Given the description of an element on the screen output the (x, y) to click on. 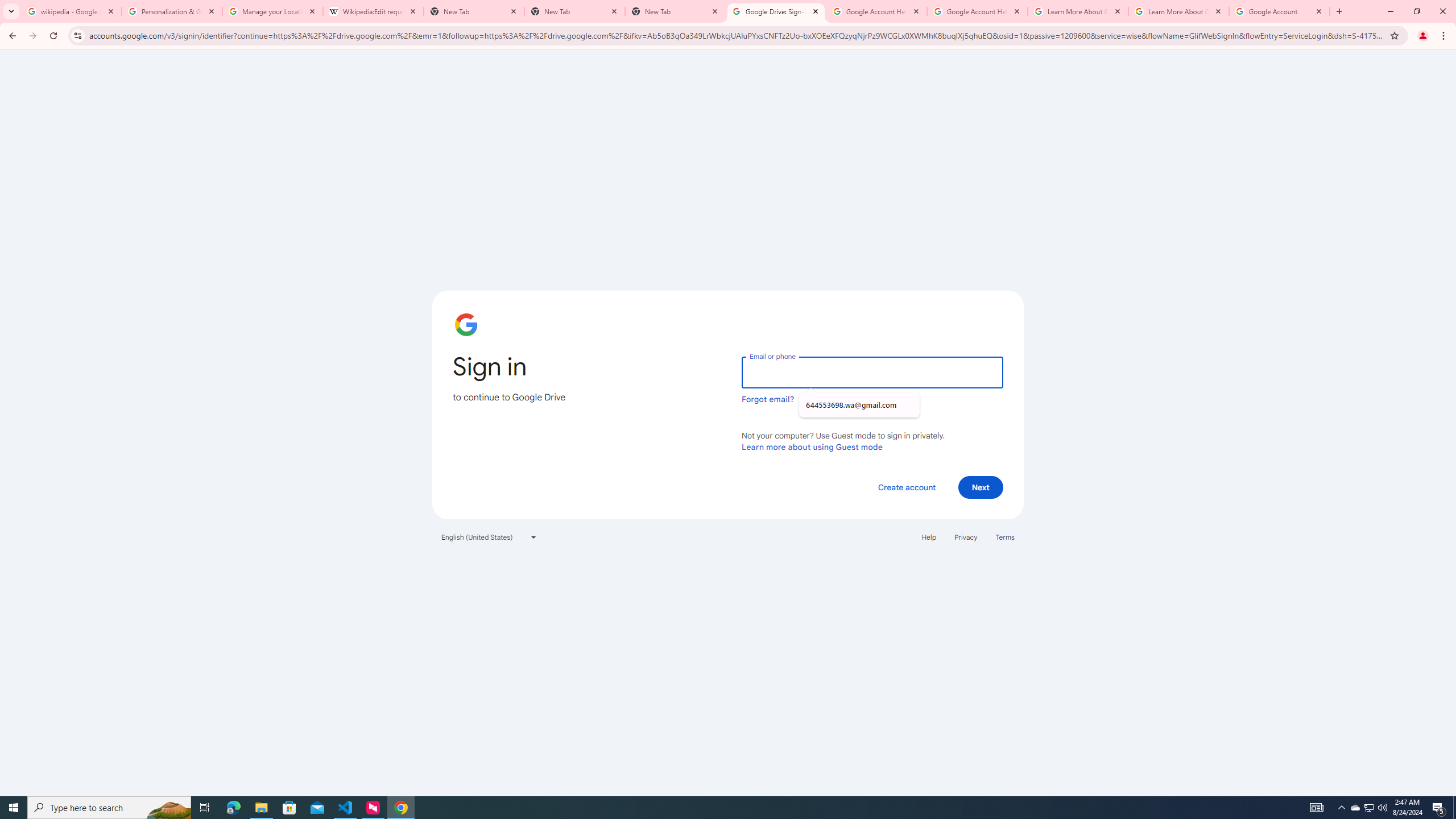
English (United States) (489, 536)
Personalization & Google Search results - Google Search Help (171, 11)
Learn more about using Guest mode (812, 446)
Google Account Help (976, 11)
Email or phone (871, 372)
Terms (1005, 536)
Help (928, 536)
